Given the description of an element on the screen output the (x, y) to click on. 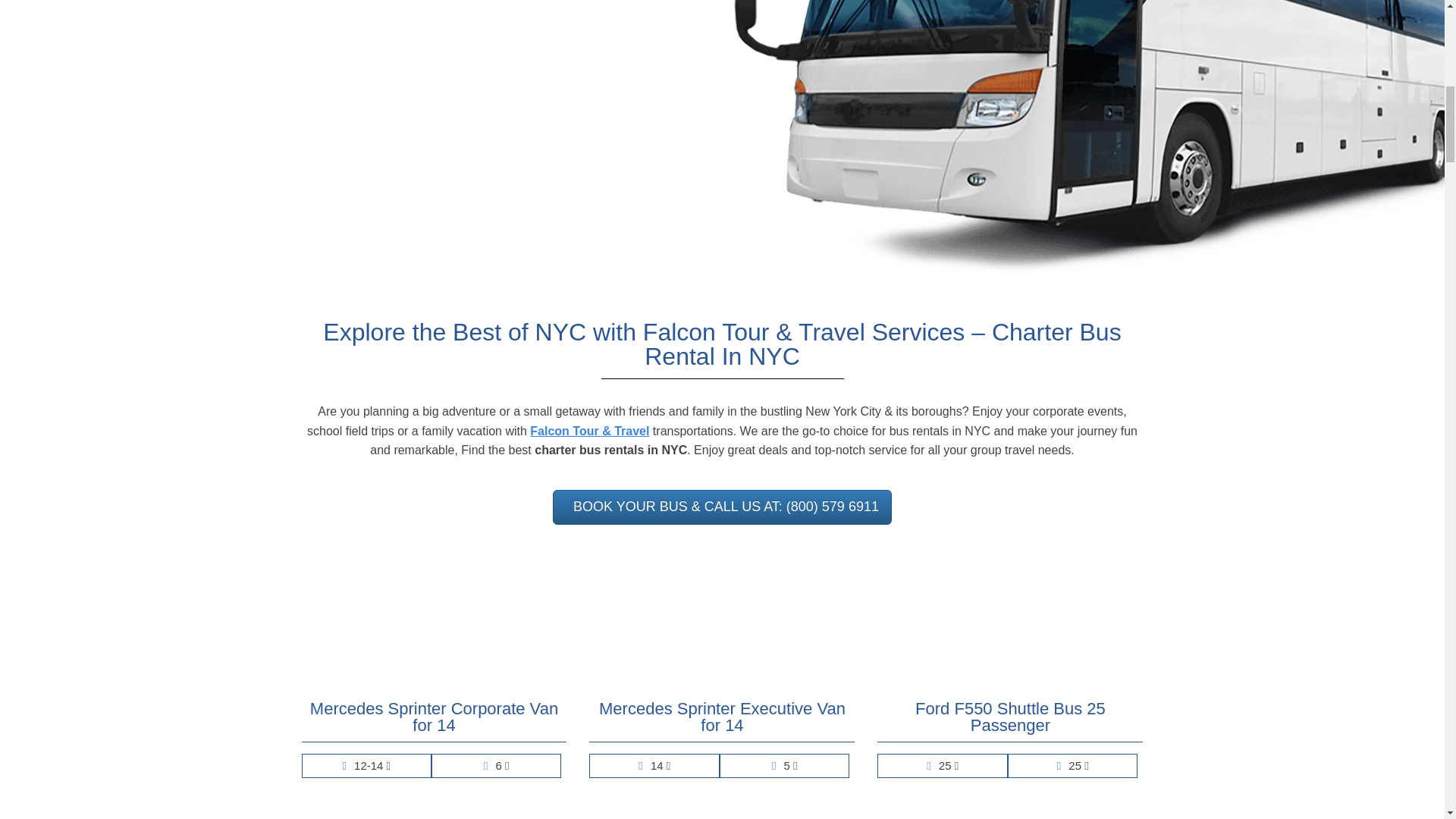
Mercedes Sprinter Executive Van for 14 (721, 721)
Mercedes Sprinter Corporate Van for 14 (434, 721)
Ford F550 Shuttle Bus 25 Passenger (1009, 721)
